Given the description of an element on the screen output the (x, y) to click on. 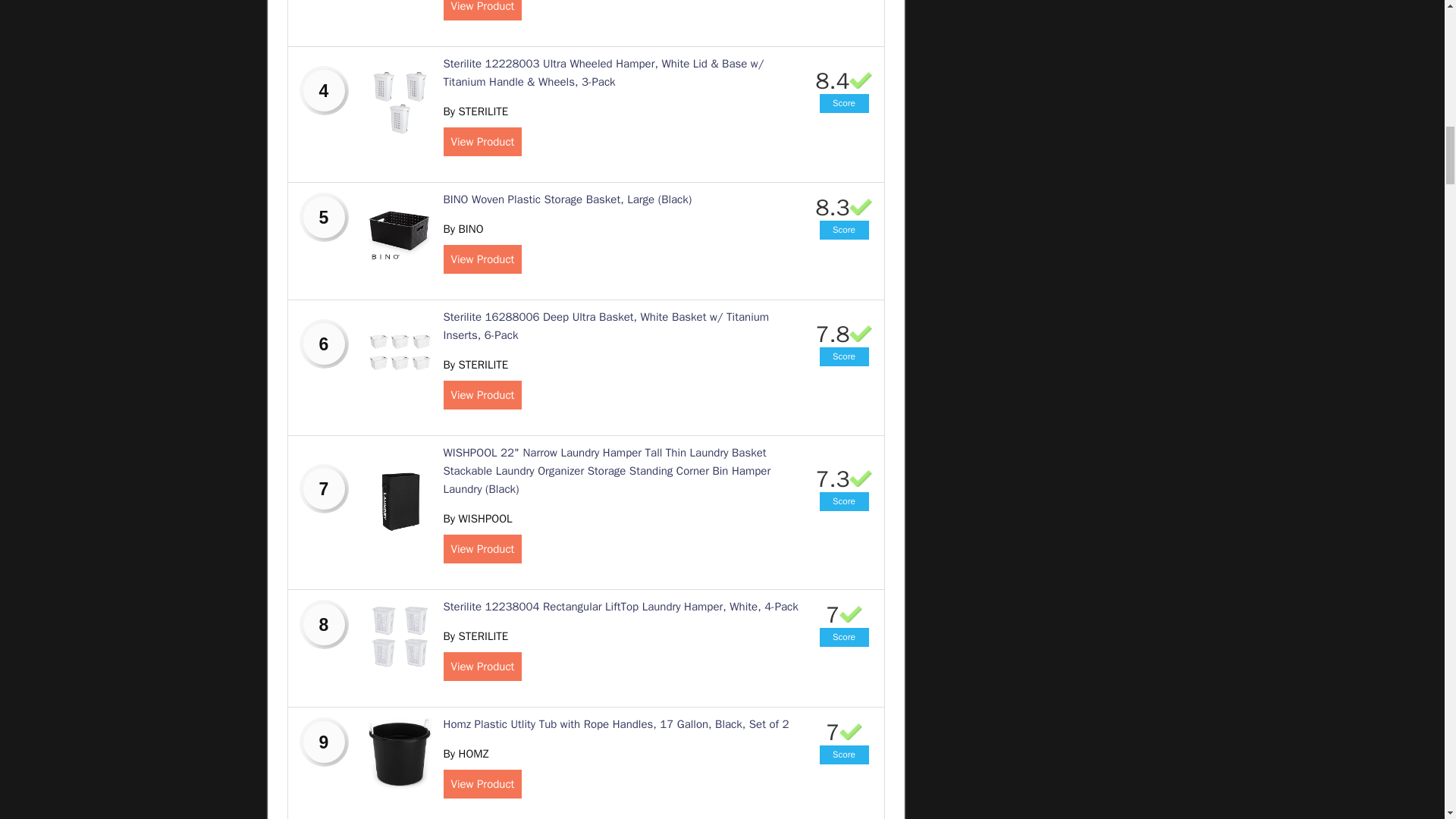
View Product (481, 10)
By STERILITE (475, 110)
View Product (481, 141)
View Product (481, 394)
By BINO (462, 228)
View Product (481, 258)
By STERILITE (475, 364)
